Given the description of an element on the screen output the (x, y) to click on. 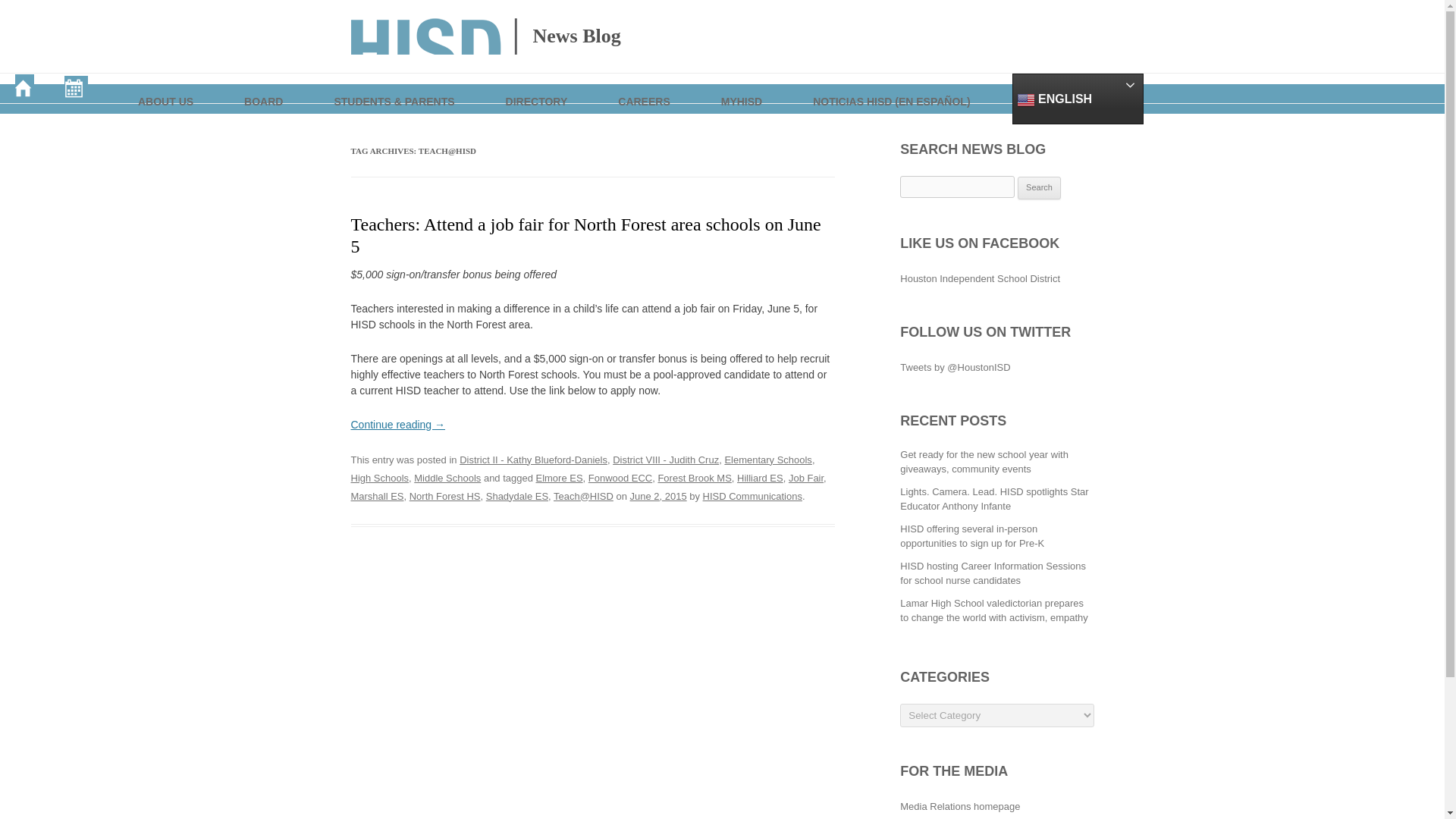
News Blog (485, 36)
Marshall ES (376, 496)
Hilliard ES (759, 478)
District II - Kathy Blueford-Daniels (533, 460)
District VIII - Judith Cruz (665, 460)
Forest Brook MS (694, 478)
Shadydale ES (517, 496)
ABOUT US (167, 88)
Middle Schools (446, 478)
